Given the description of an element on the screen output the (x, y) to click on. 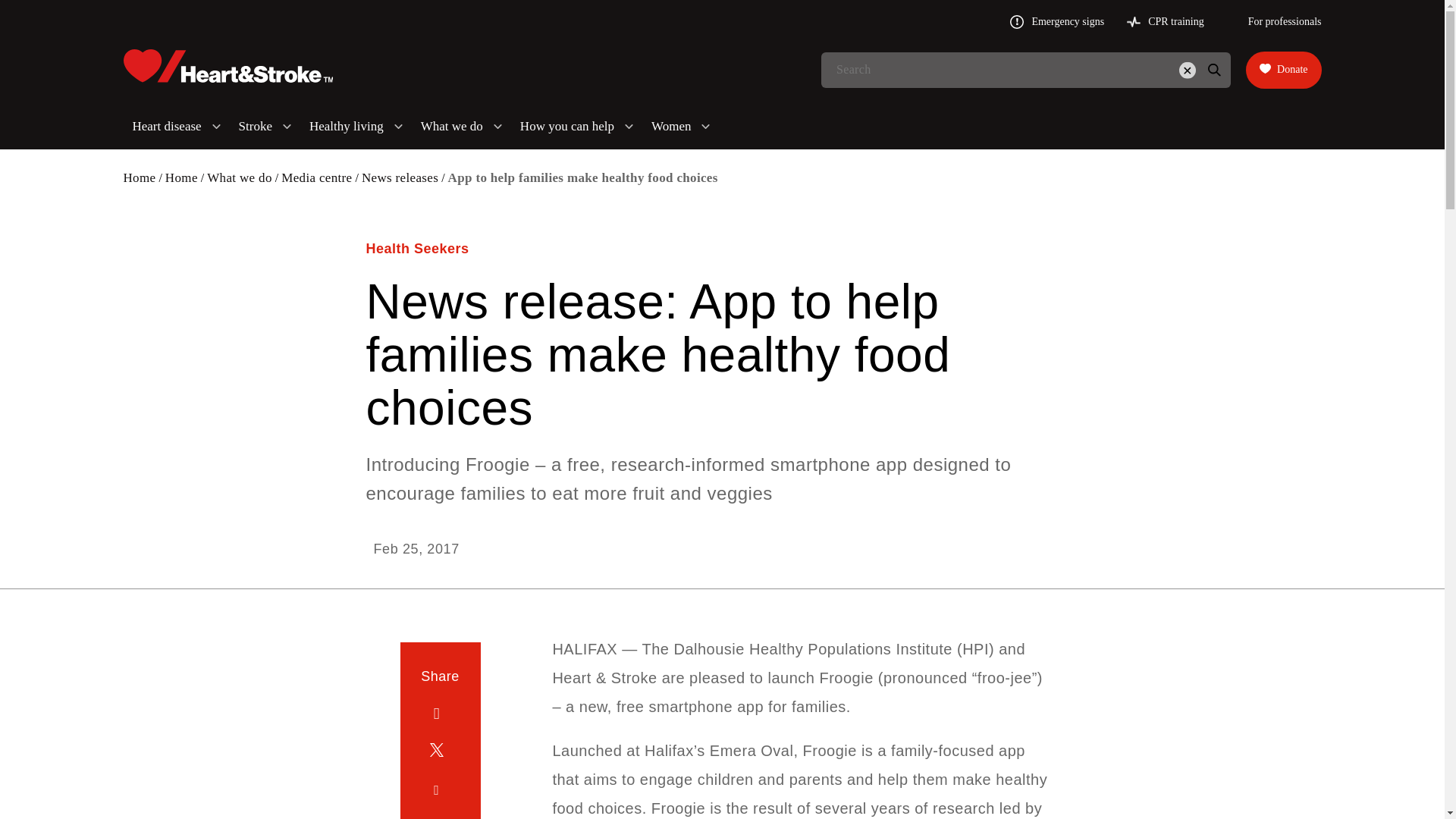
Twitter (440, 752)
What we do (461, 126)
Emergency signs (1056, 21)
CPR training (1165, 22)
Clear Search (1187, 69)
Search (1213, 69)
For professionals (1274, 22)
Healthy living (355, 126)
Print (440, 817)
